Given the description of an element on the screen output the (x, y) to click on. 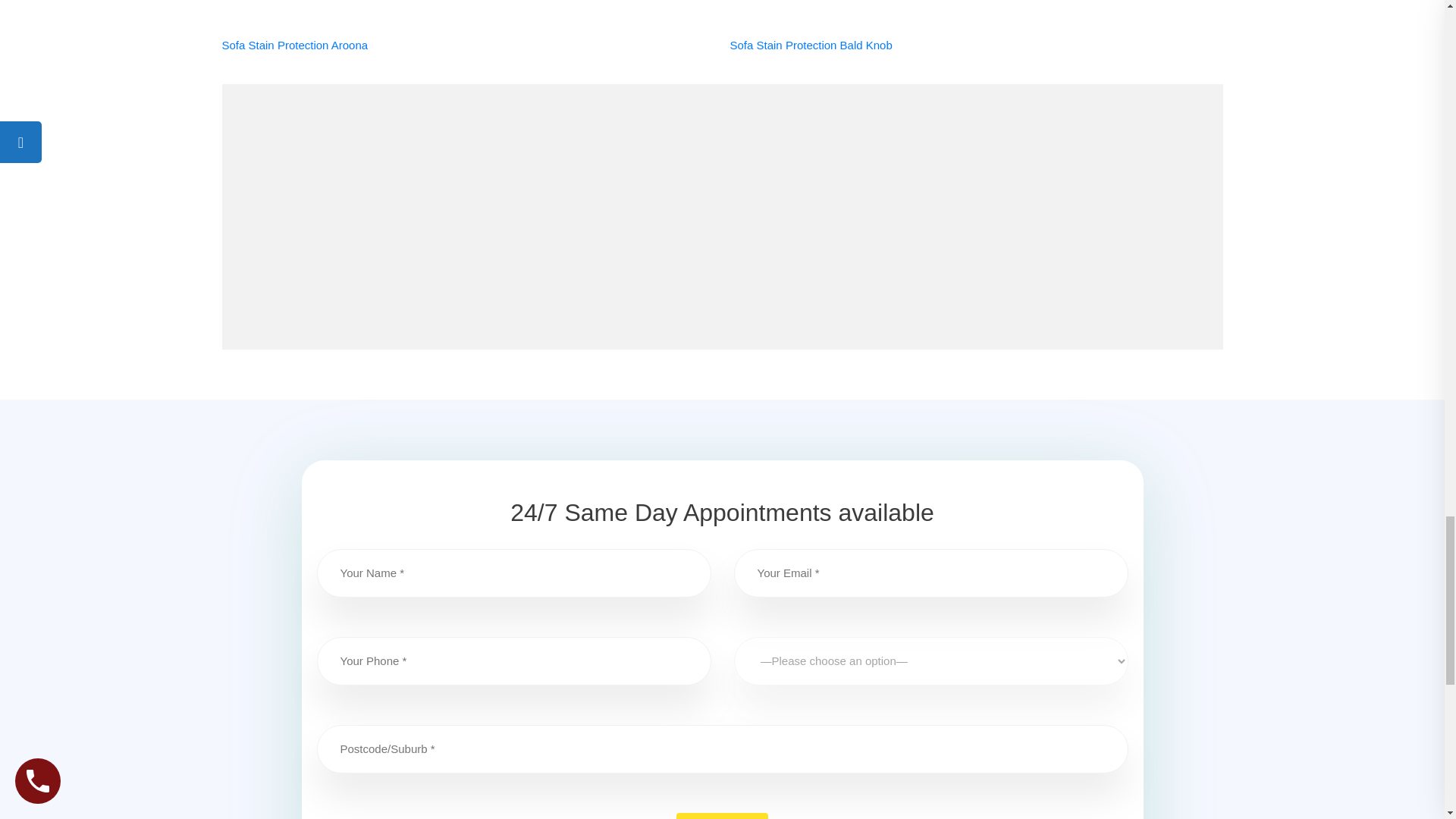
Sofa Stain Protection Aroona (294, 44)
Sofa Stain Protection Bald Knob (810, 44)
Sofa Stain Protection Aroona (294, 44)
